Given the description of an element on the screen output the (x, y) to click on. 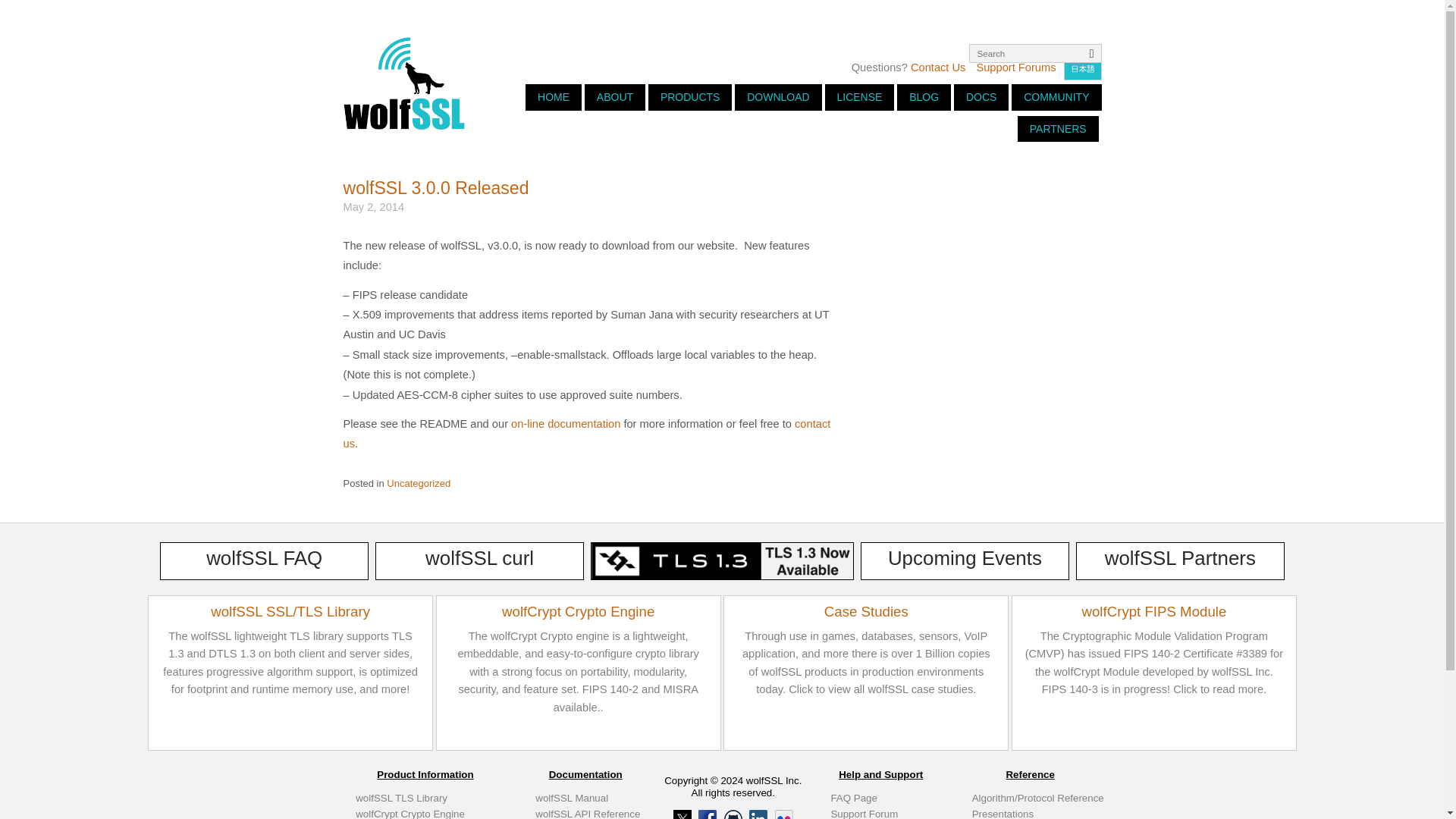
DOCS (981, 96)
Contact Us (938, 67)
Home (403, 82)
HOME (552, 96)
DOWNLOAD (778, 96)
COMMUNITY (1055, 96)
ABOUT (615, 96)
Support Forums (1015, 67)
LICENSE (860, 96)
BLOG (923, 96)
PRODUCTS (689, 96)
